Given the description of an element on the screen output the (x, y) to click on. 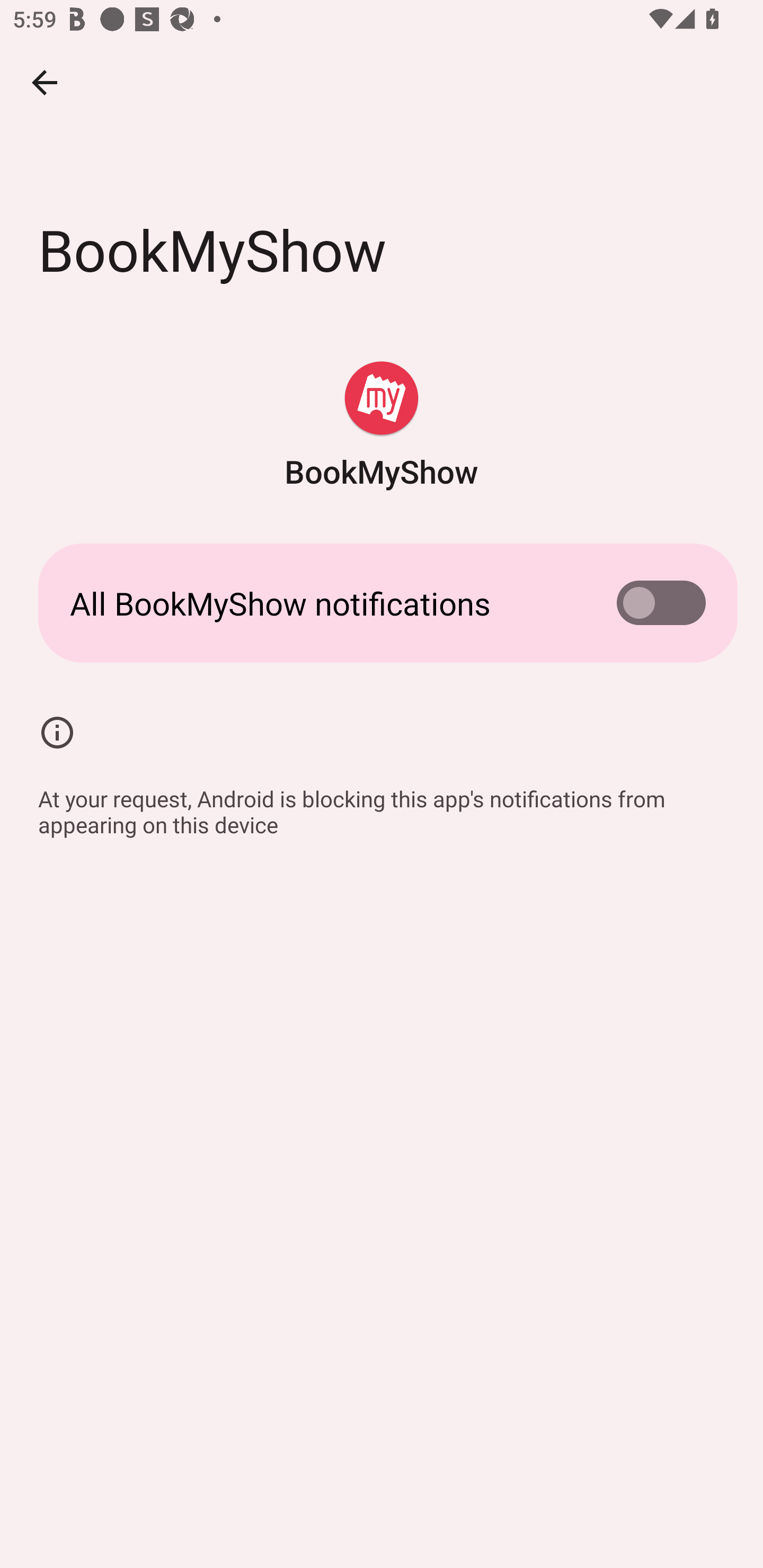
Navigate up (44, 82)
BookMyShow (381, 426)
All BookMyShow notifications (381, 602)
